Given the description of an element on the screen output the (x, y) to click on. 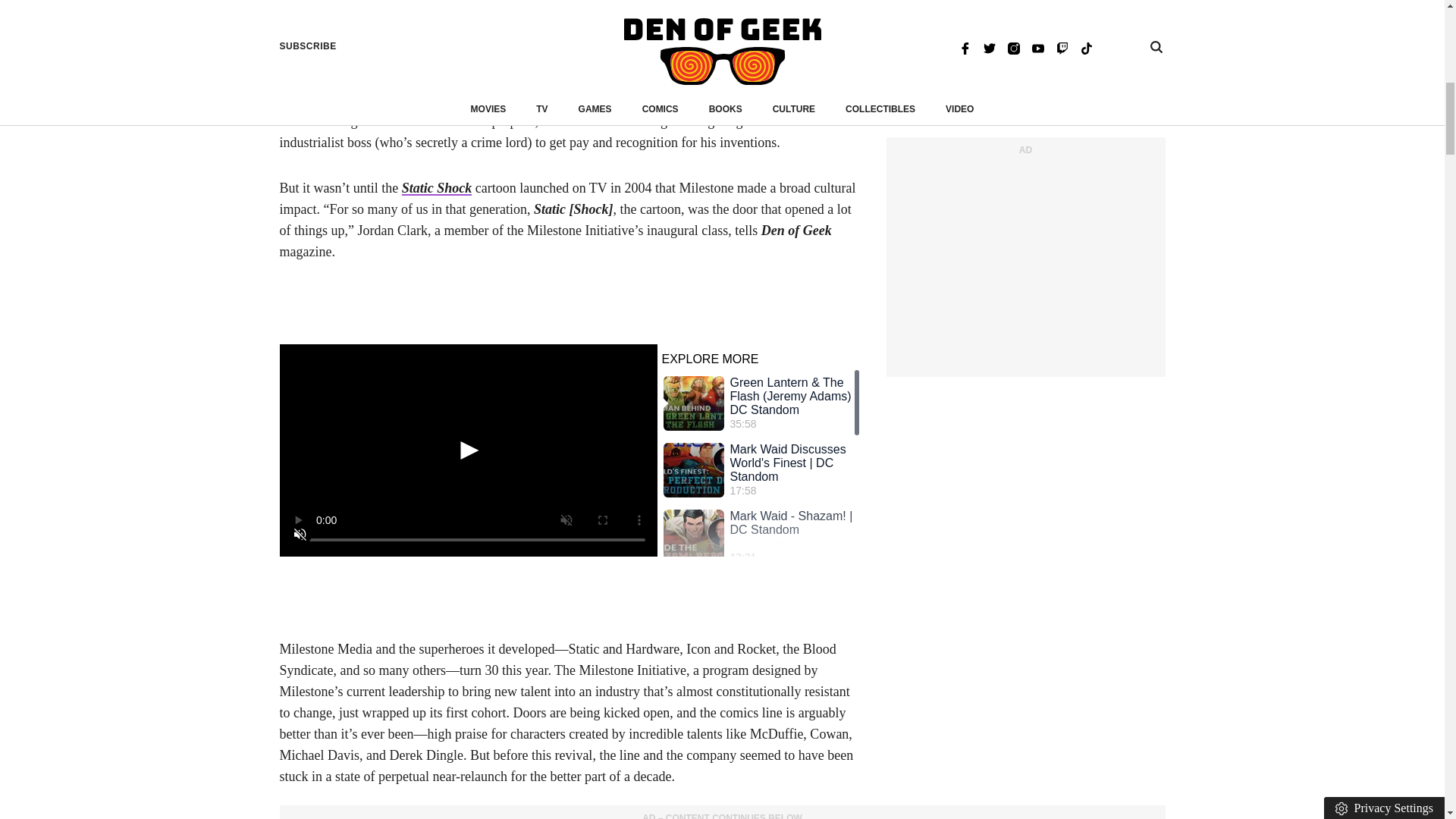
Milestone Media (482, 78)
Static Shock (436, 187)
here (818, 20)
50 (467, 561)
